Given the description of an element on the screen output the (x, y) to click on. 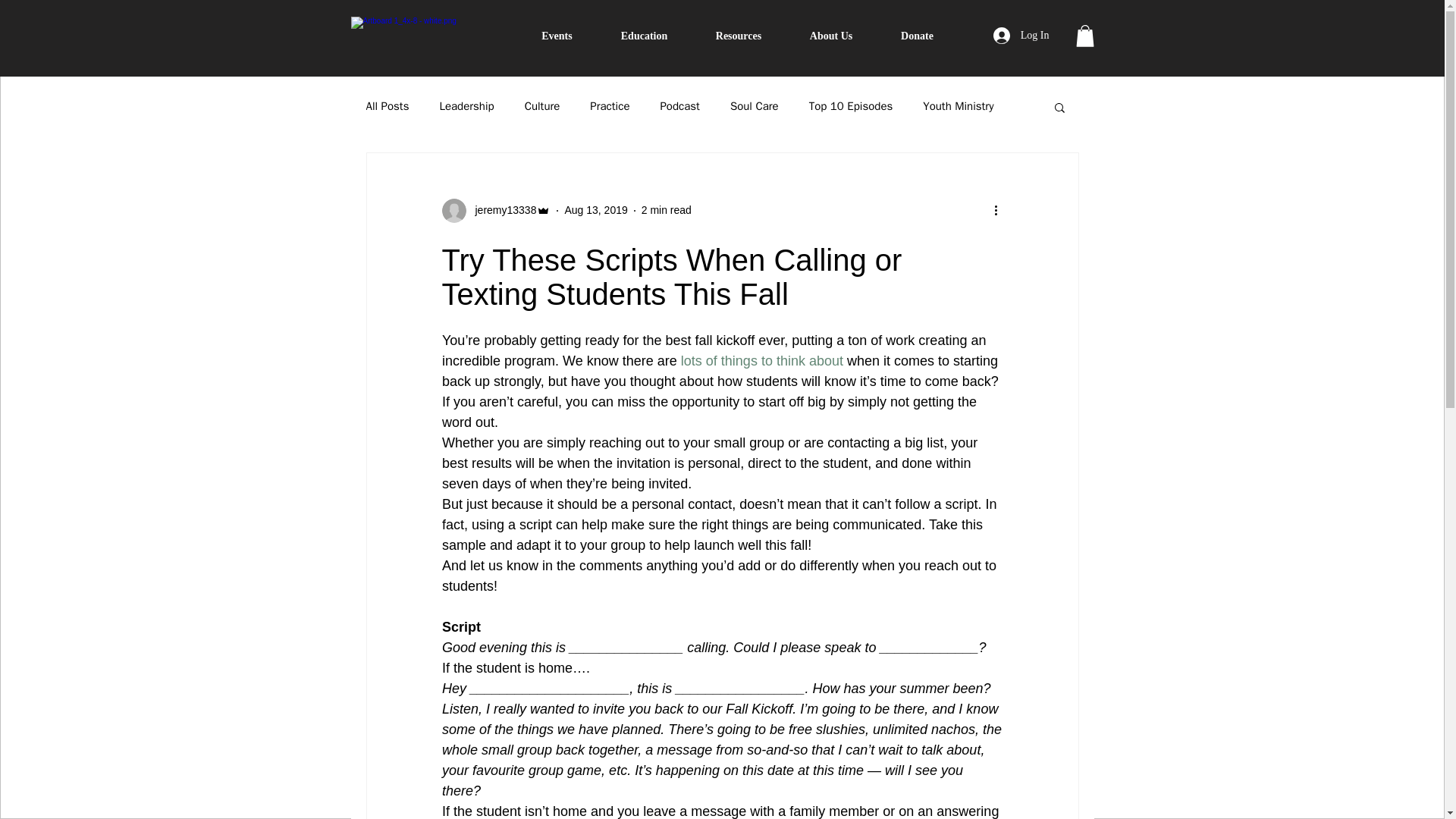
Aug 13, 2019 (595, 209)
Log In (1020, 35)
Leadership (466, 106)
Practice (608, 106)
Top 10 Episodes (851, 106)
All Posts (387, 106)
Soul Care (754, 106)
Culture (542, 106)
lots of things to think about (761, 360)
Podcast (678, 106)
Donate (917, 35)
2 min read (666, 209)
jeremy13338 (500, 210)
jeremy13338 (495, 210)
Youth Ministry (957, 106)
